Given the description of an element on the screen output the (x, y) to click on. 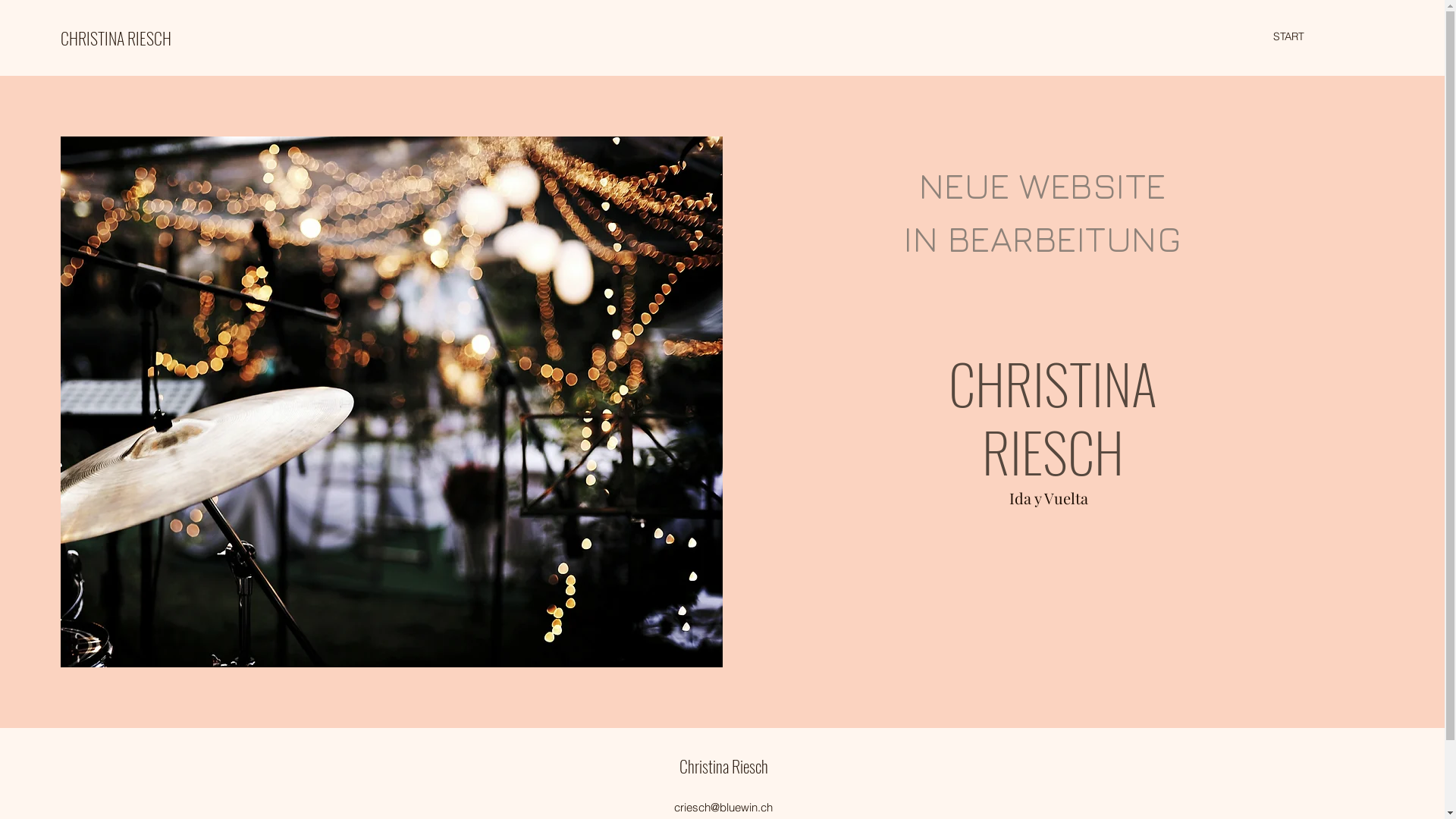
criesch@bluewin.ch Element type: text (723, 807)
START Element type: text (1288, 36)
